Given the description of an element on the screen output the (x, y) to click on. 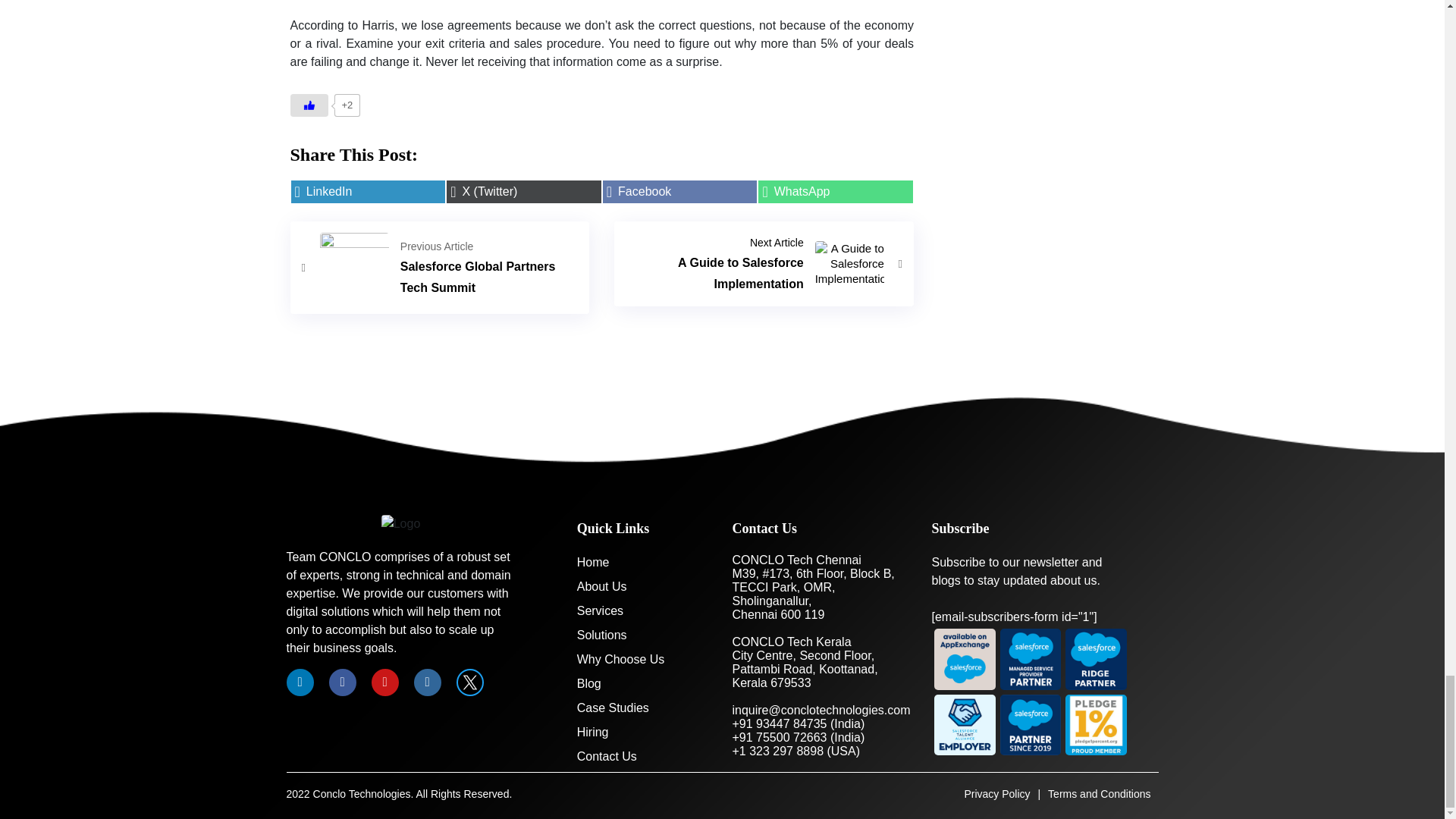
Salesforce Global Partners Tech Summit 2022 (439, 267)
WhatsApp (439, 267)
Facebook (835, 191)
LinkedIn (680, 191)
A Guide to Salesforce Implementation (367, 191)
